Given the description of an element on the screen output the (x, y) to click on. 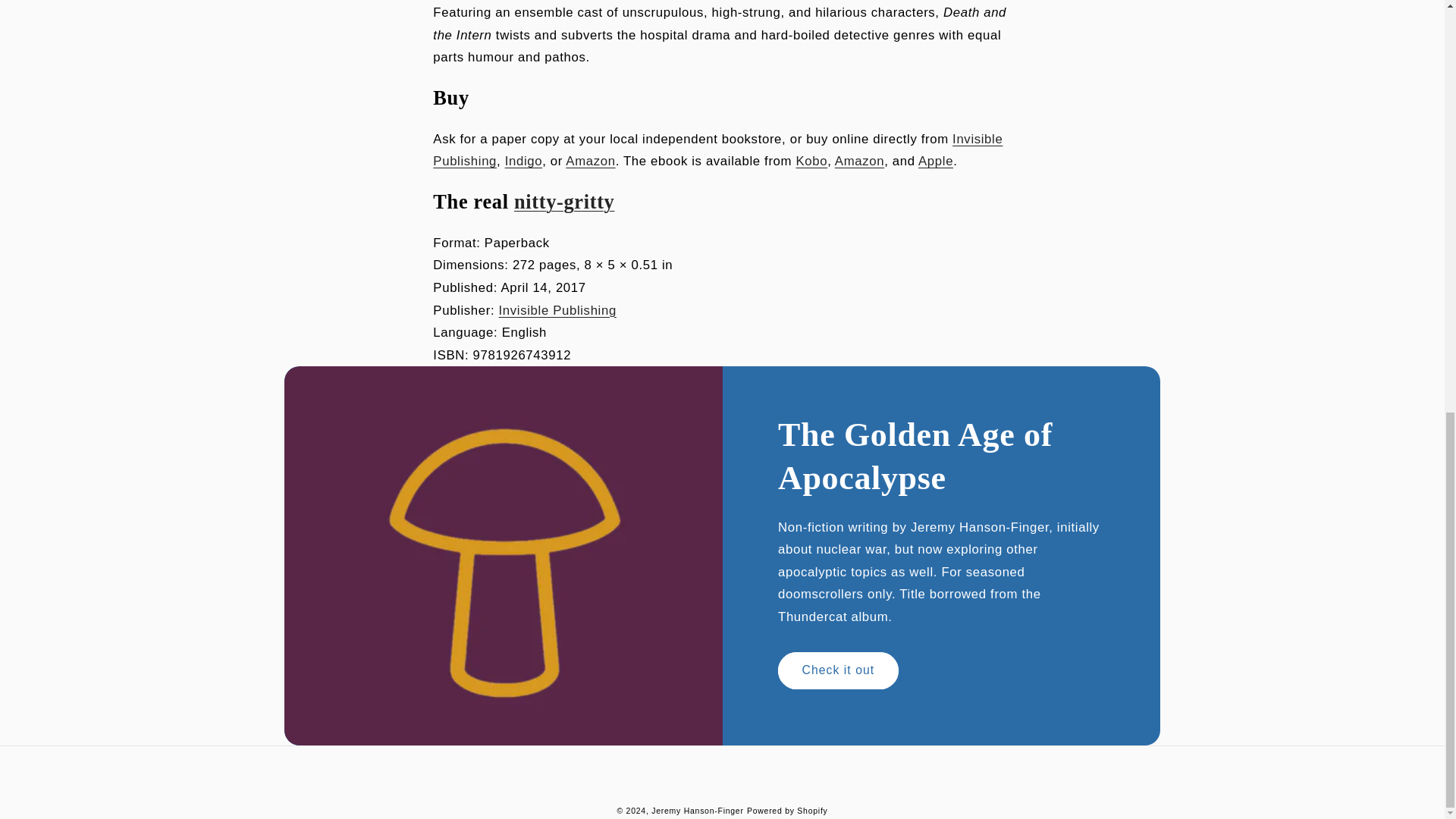
Death and the Intern at Kobo (810, 160)
Apple (935, 160)
Check it out (837, 670)
Buy Kindle edition of Death and the Intern (858, 160)
nitty-gritty (563, 201)
Indigo (524, 160)
Buy iBooks edition of Death and the Intern (935, 160)
Kobo (810, 160)
Powered by Shopify (787, 809)
Invisible Publishing (717, 149)
